Given the description of an element on the screen output the (x, y) to click on. 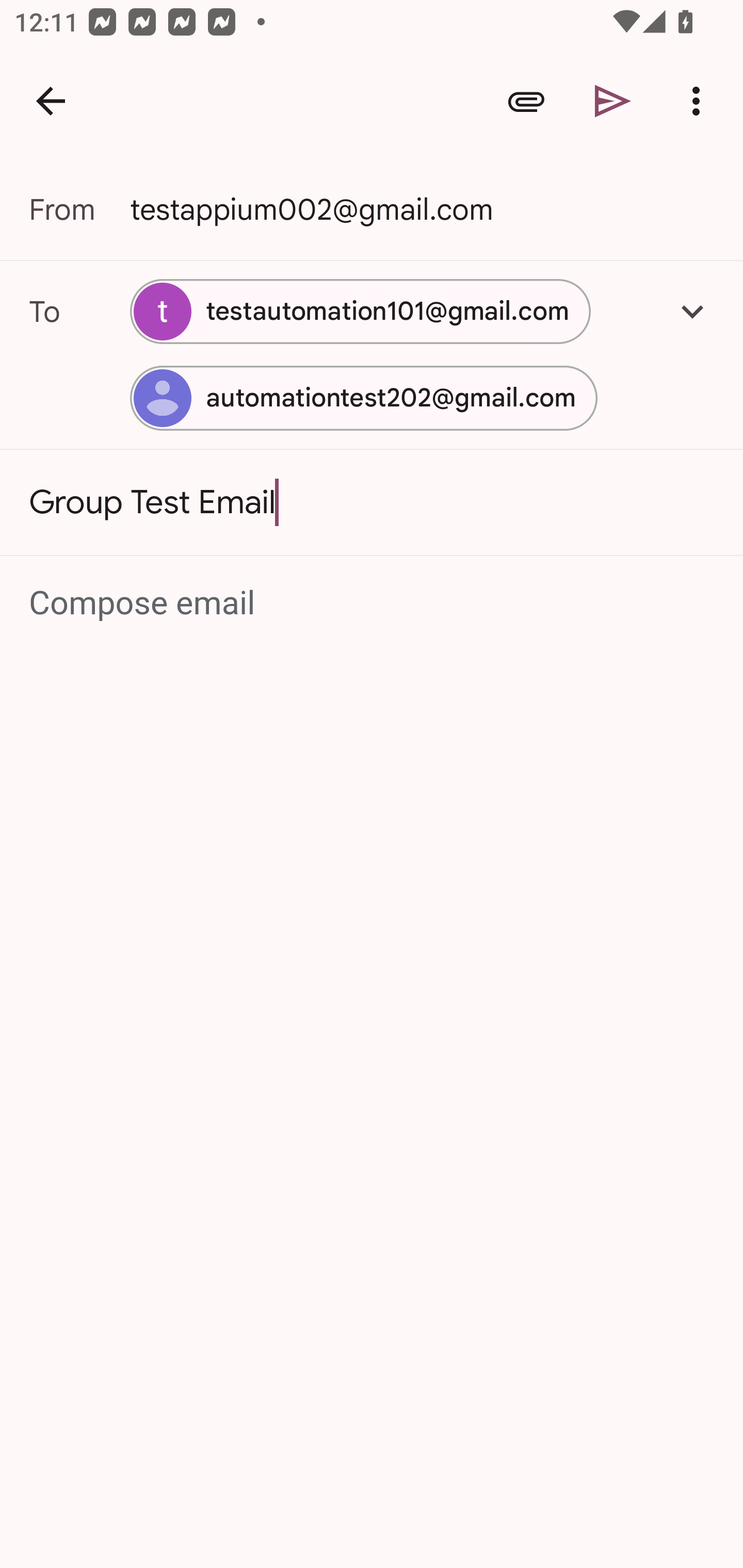
Navigate up (50, 101)
Attach file (525, 101)
Send (612, 101)
More options (699, 101)
From (79, 209)
Add Cc/Bcc (692, 311)
Group Test Email (371, 502)
Compose email (372, 603)
